Given the description of an element on the screen output the (x, y) to click on. 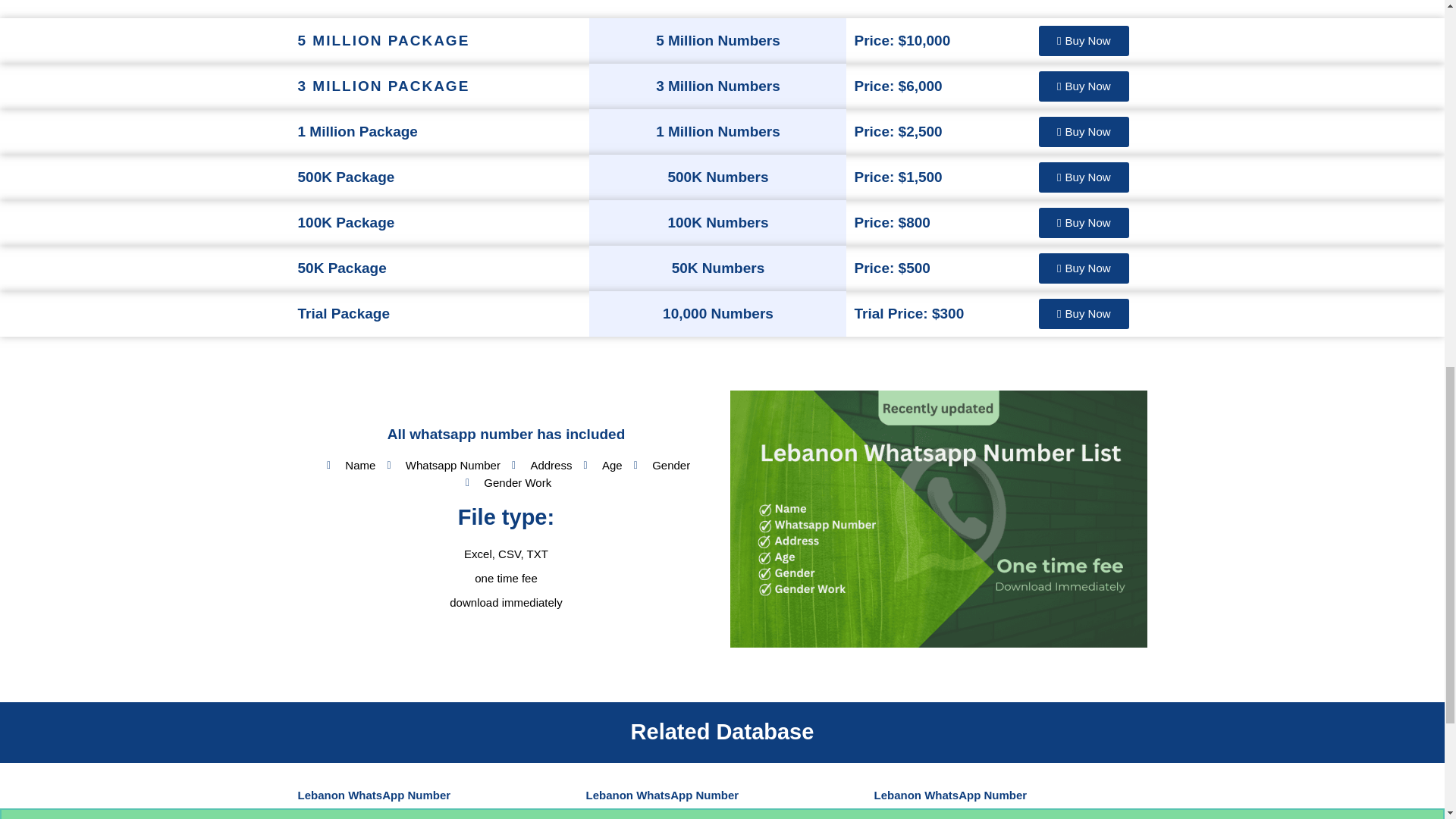
Buy Now (1084, 268)
Buy Now (1084, 313)
Buy Now (1084, 223)
Buy Now (1084, 132)
Buy Now (1084, 177)
Lebanon WhatsApp Number (373, 794)
Lebanon WhatsApp Number (661, 794)
Buy Now (1084, 40)
Buy Now (1084, 86)
Lebanon WhatsApp Number (949, 794)
